Given the description of an element on the screen output the (x, y) to click on. 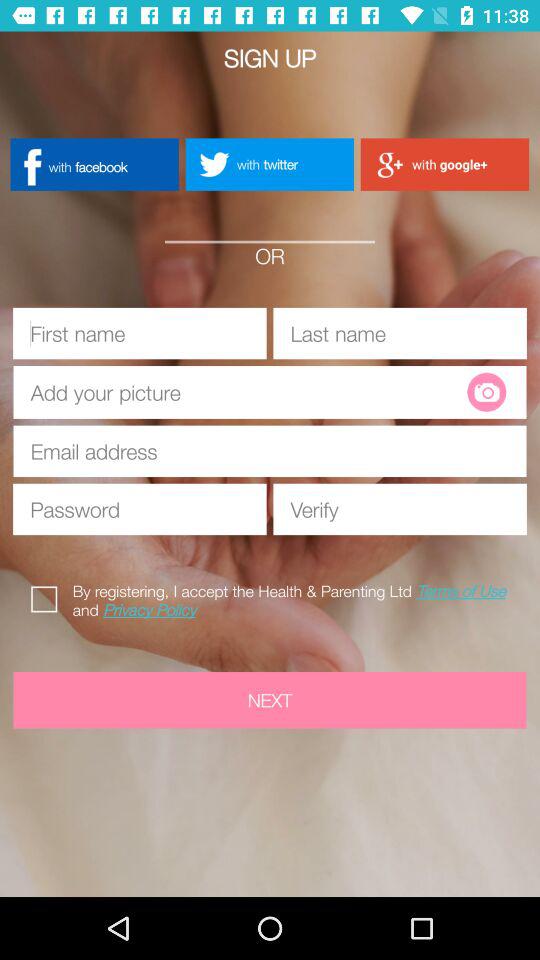
jump until the with twitter item (269, 164)
